Given the description of an element on the screen output the (x, y) to click on. 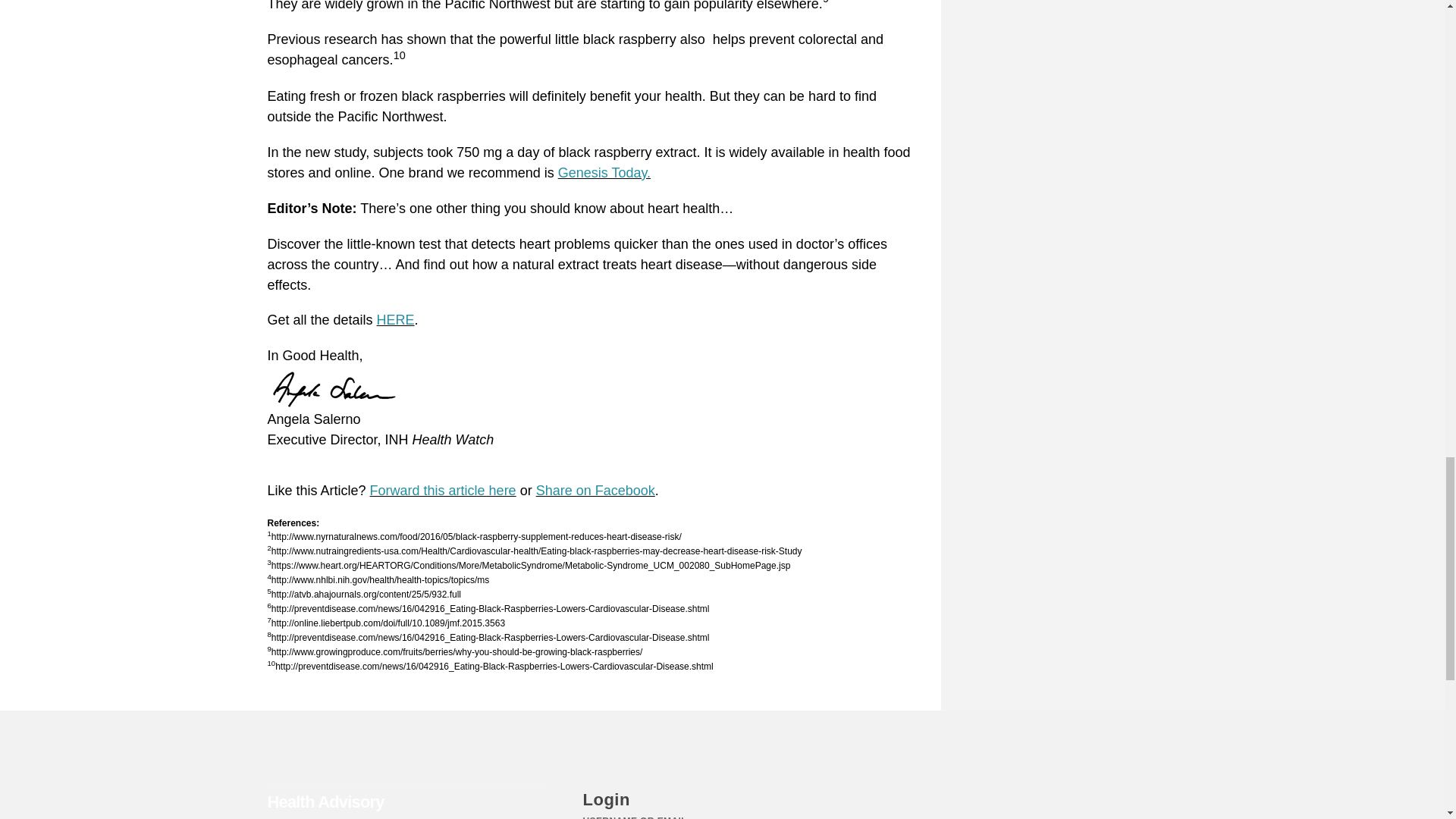
forever (369, 9)
